Given the description of an element on the screen output the (x, y) to click on. 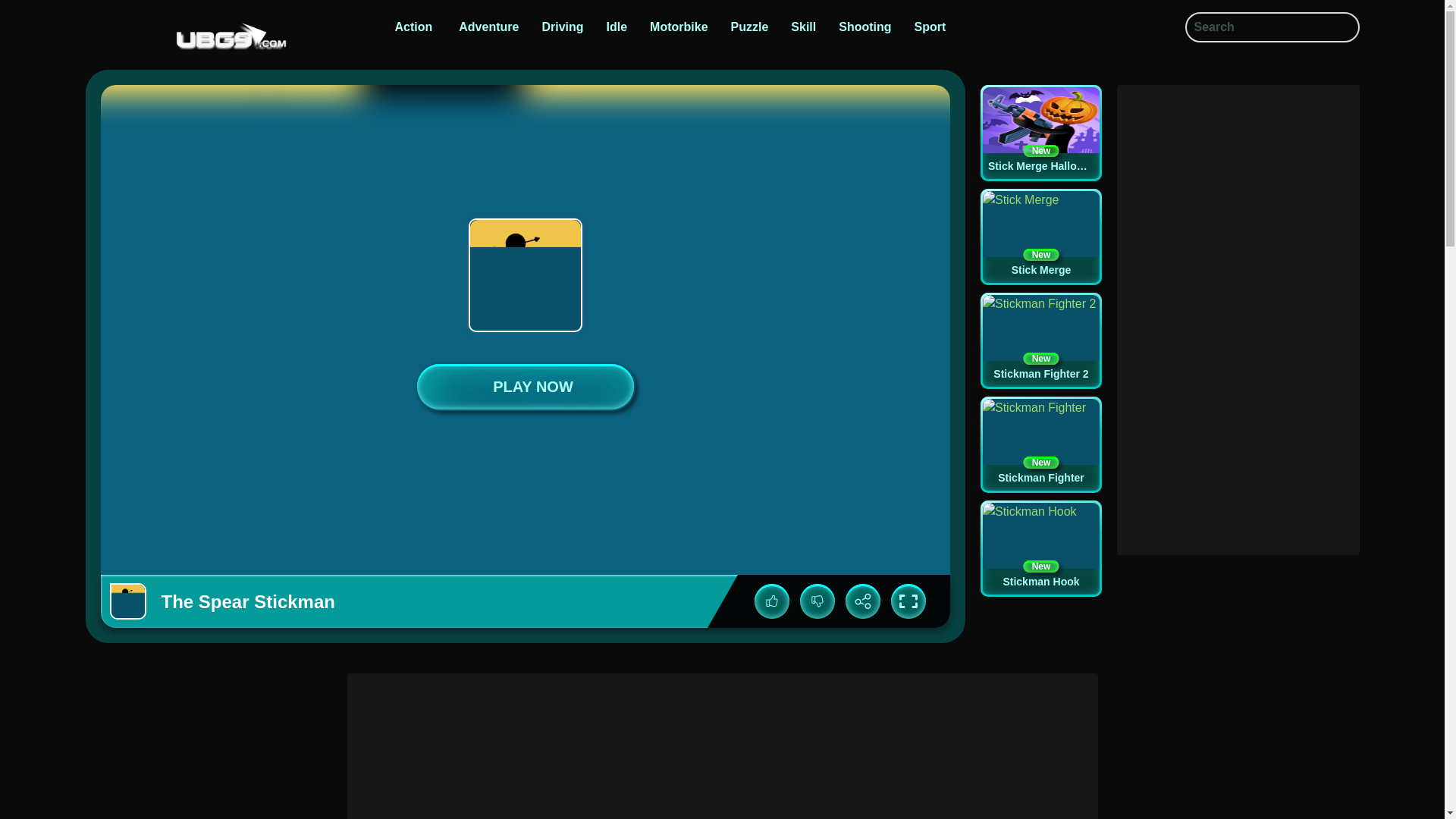
Stick Merge (1039, 237)
Motorbike (678, 27)
Action (413, 27)
Stickman Hook (1039, 548)
Idle (616, 27)
Shooting (864, 27)
driving (1039, 548)
PLAY NOW (562, 27)
